Given the description of an element on the screen output the (x, y) to click on. 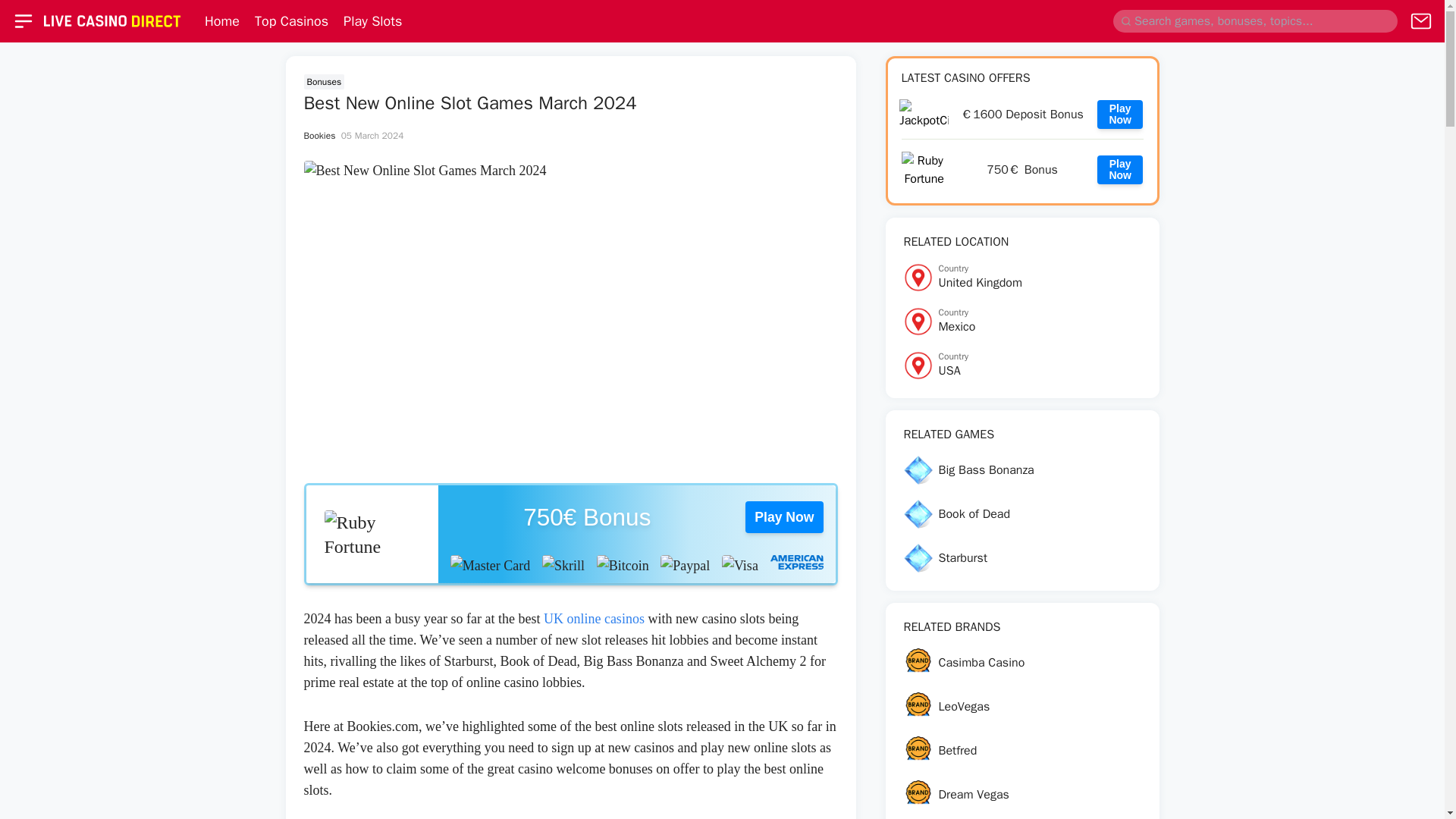
Play Now (1022, 365)
Ruby Fortune (1119, 114)
Home (1022, 276)
Top Casinos (372, 534)
Play Slots (222, 20)
JackpotCity (1022, 321)
Play Now (291, 20)
